Given the description of an element on the screen output the (x, y) to click on. 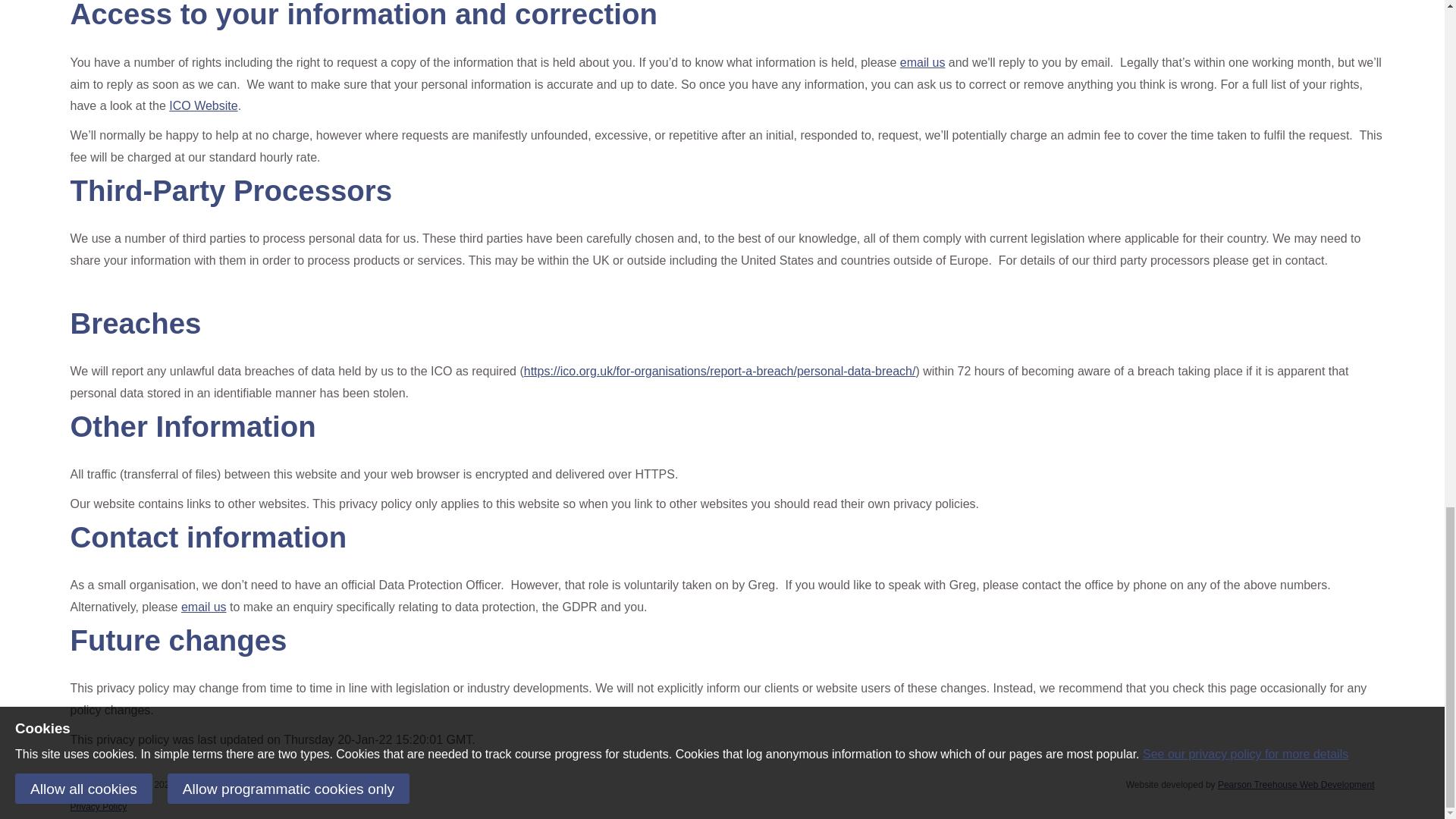
email us (921, 62)
Privacy Policy (97, 806)
ICO Website (202, 105)
email us (203, 606)
Pearson Treehouse Web Development (1295, 784)
